Given the description of an element on the screen output the (x, y) to click on. 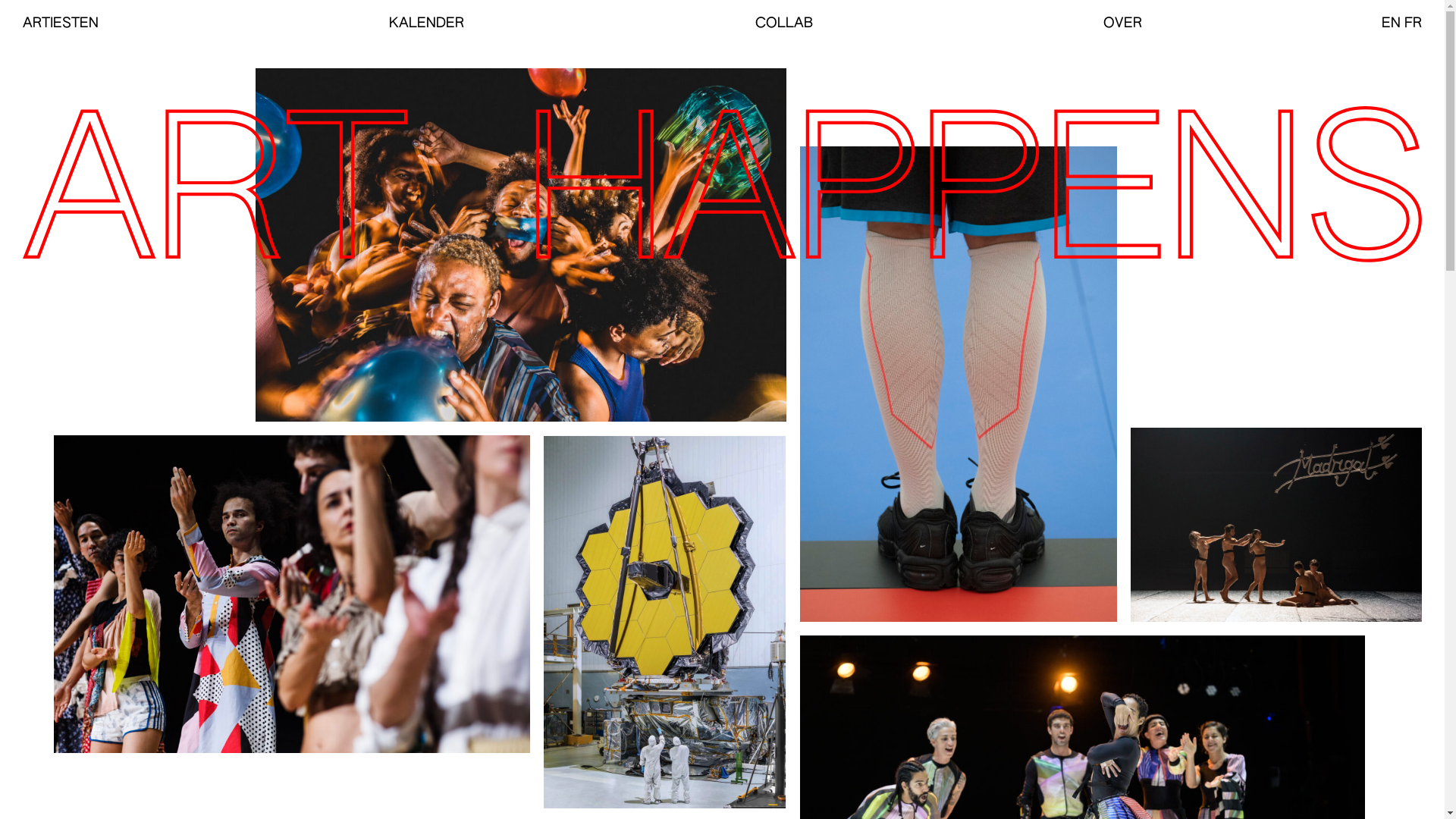
KALENDER Element type: text (426, 23)
EN Element type: text (1390, 23)
OVER Element type: text (1122, 23)
COLLAB Element type: text (783, 23)
ARTIESTEN Element type: text (60, 23)
FR Element type: text (1412, 23)
